Given the description of an element on the screen output the (x, y) to click on. 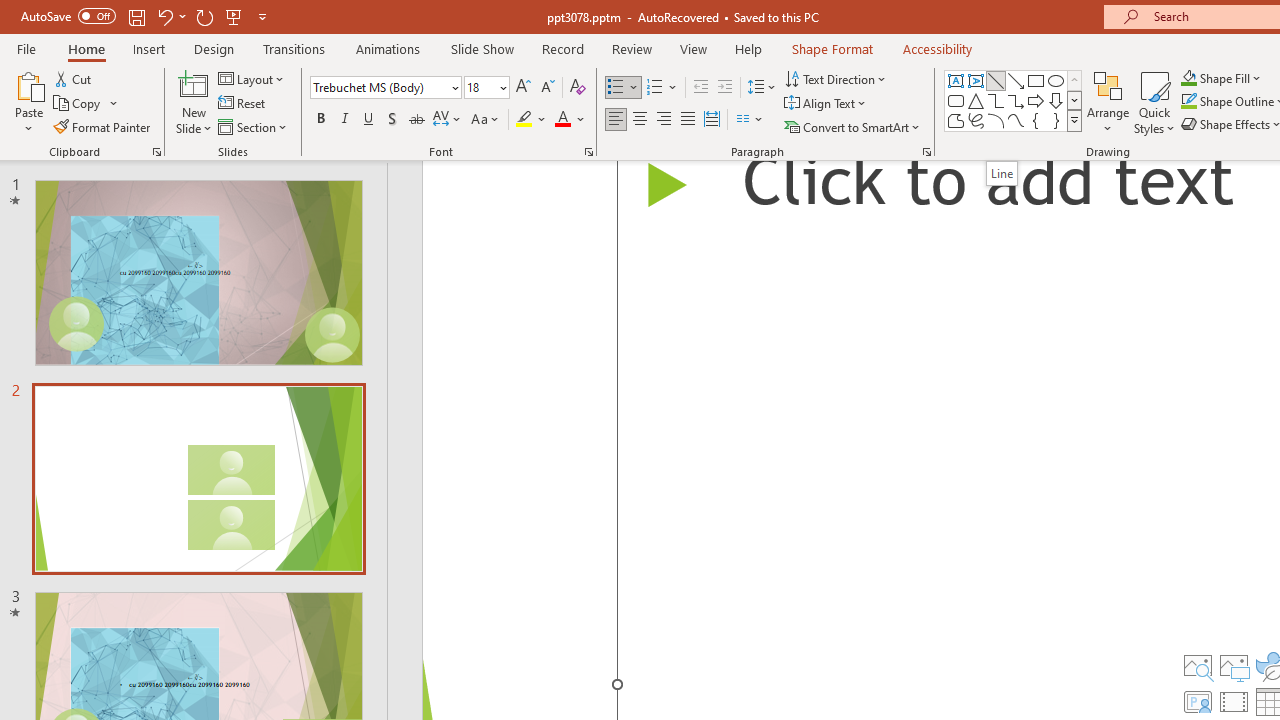
Text Box (955, 80)
Vertical Text Box (975, 80)
Connector: Elbow Arrow (1016, 100)
Convert to SmartArt (853, 126)
Cut (73, 78)
Italic (344, 119)
New Slide (193, 84)
AutomationID: ShapesInsertGallery (1014, 100)
Shape Outline Green, Accent 1 (1188, 101)
Numbering (654, 87)
Curve (1016, 120)
Font Size (480, 87)
Copy (85, 103)
